Given the description of an element on the screen output the (x, y) to click on. 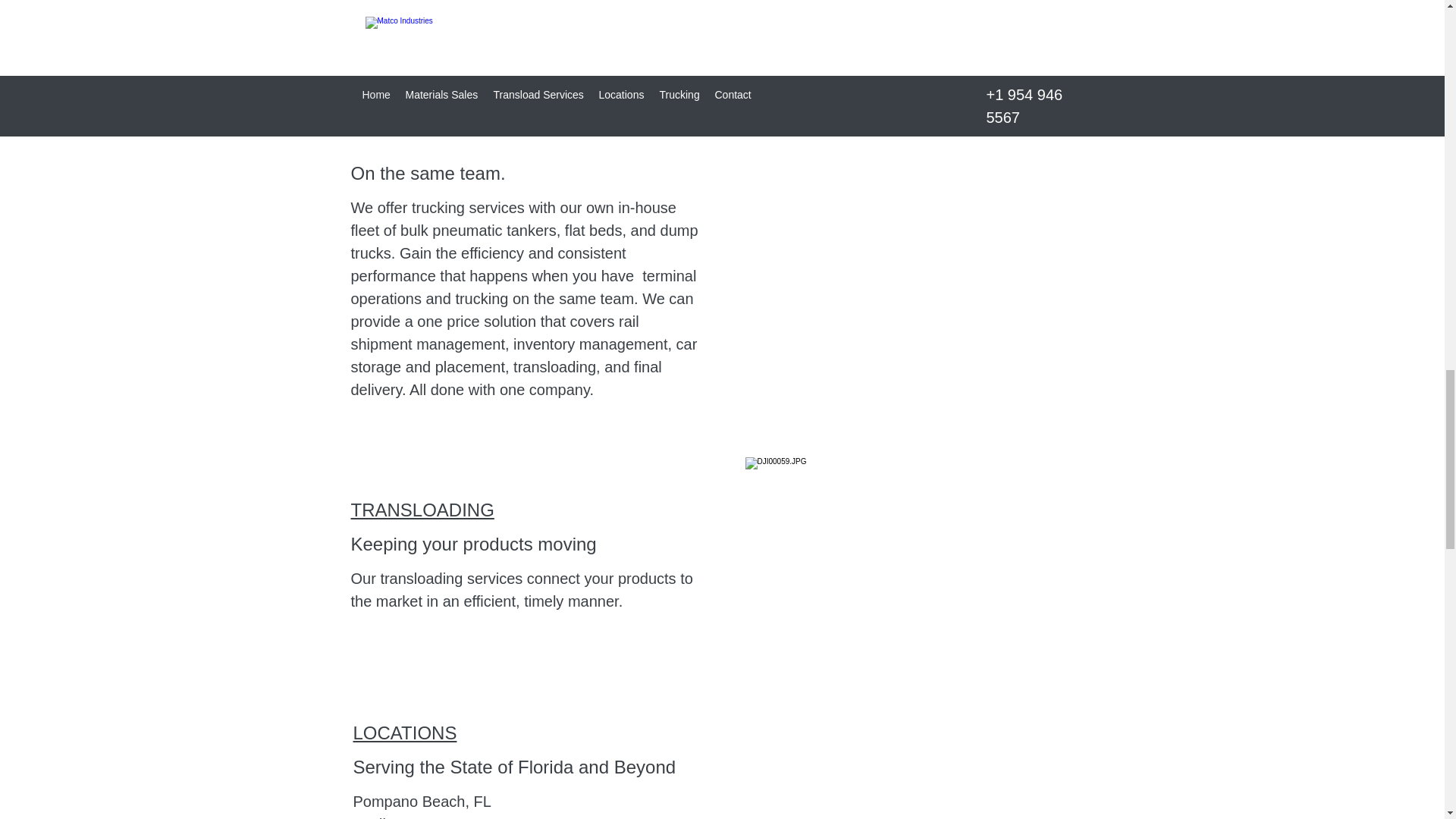
LOCATIONS (405, 732)
DISTRIBUTION (414, 138)
TRANSLOADING (421, 509)
